Given the description of an element on the screen output the (x, y) to click on. 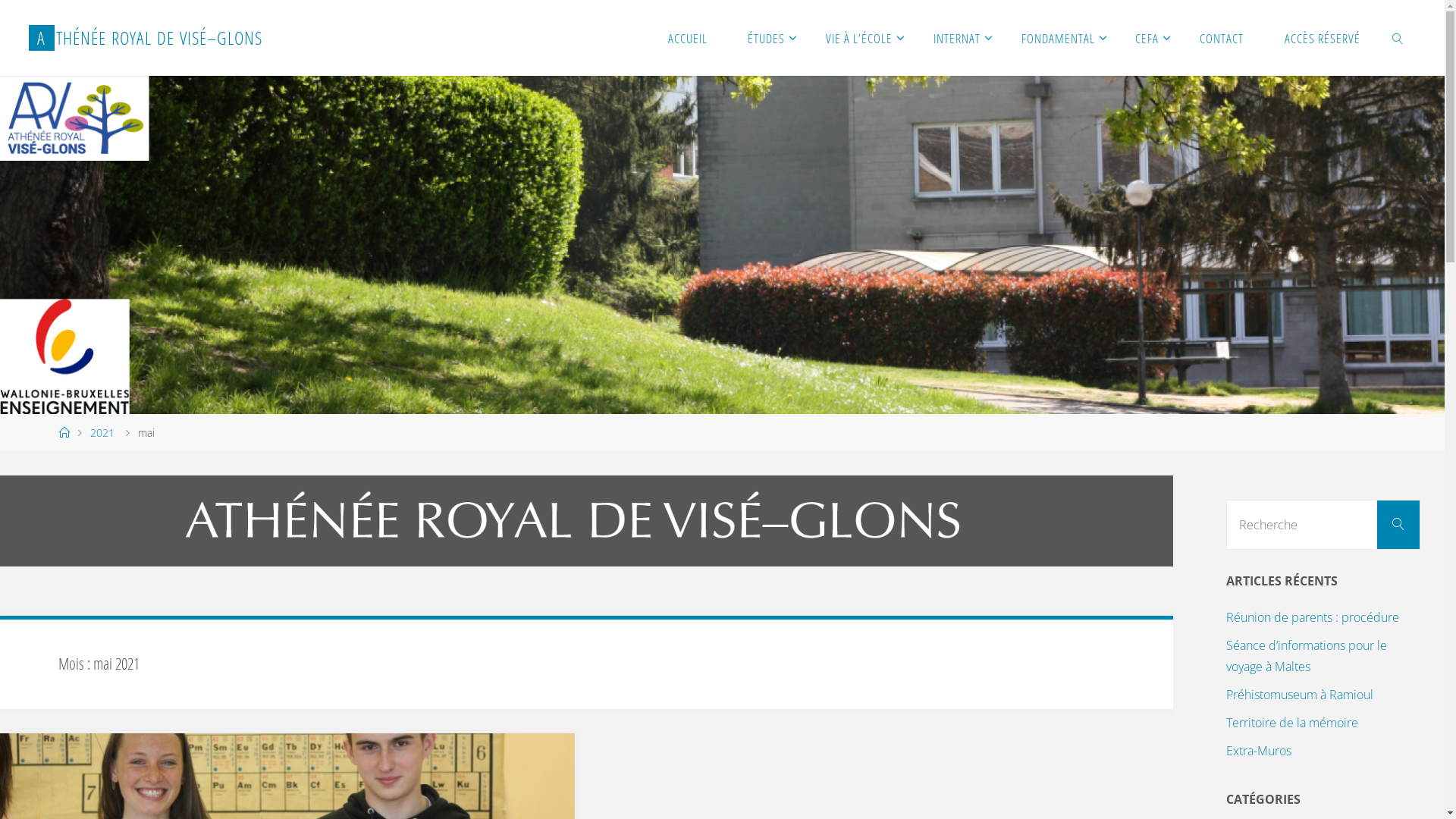
INTERNAT Element type: text (957, 37)
RECHERCHE Element type: text (1397, 37)
2021 Element type: text (102, 432)
ACCUEIL Element type: text (687, 37)
CONTACT Element type: text (1221, 37)
FONDAMENTAL Element type: text (1058, 37)
Recherche Element type: text (1398, 524)
CEFA Element type: text (1147, 37)
Accueil Element type: text (63, 432)
Extra-Muros Element type: text (1258, 750)
